Given the description of an element on the screen output the (x, y) to click on. 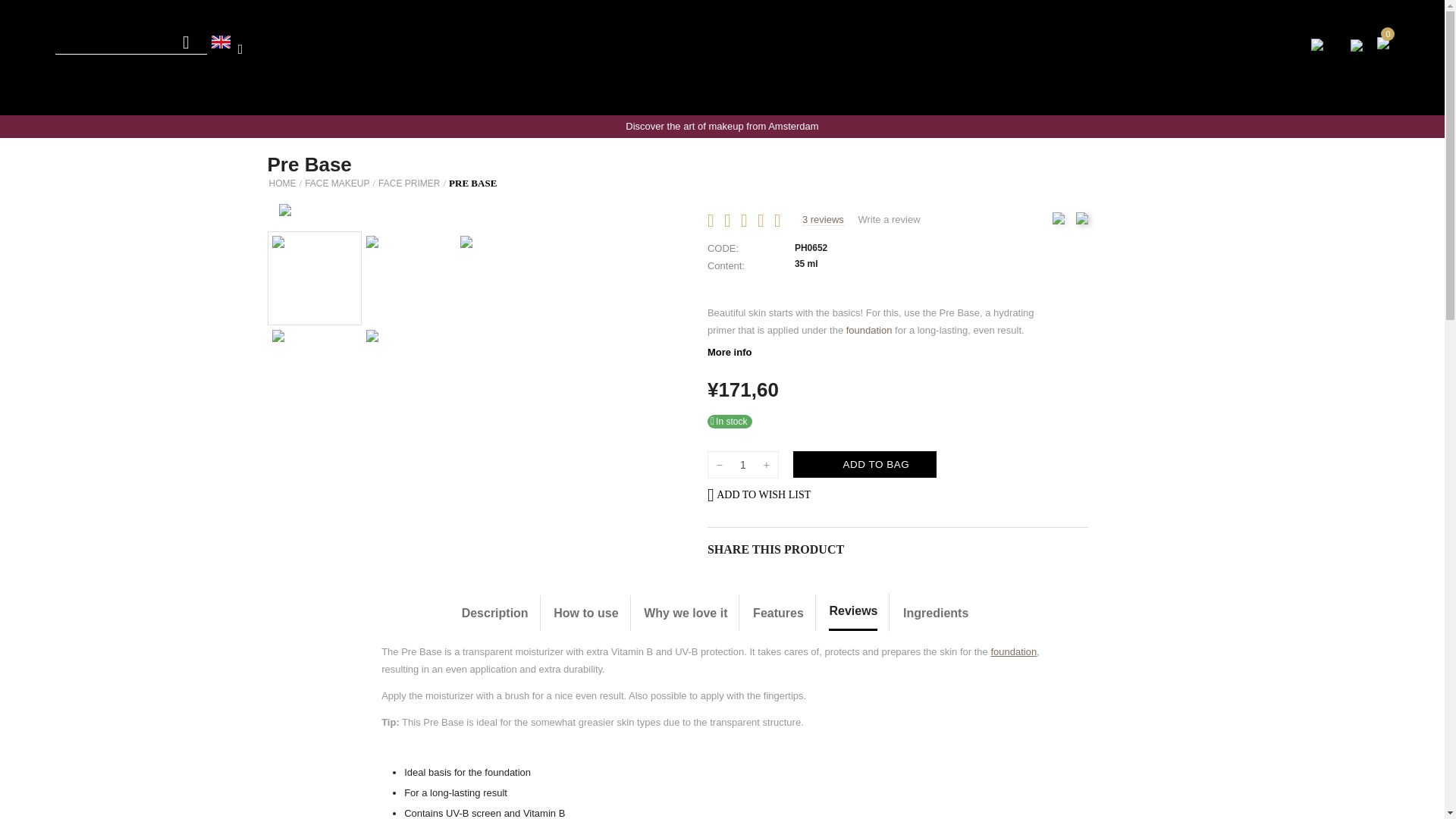
View wish list (1356, 43)
Profile details (1317, 43)
1 (742, 464)
Search products (130, 40)
0 (1383, 41)
Search (186, 41)
